Given the description of an element on the screen output the (x, y) to click on. 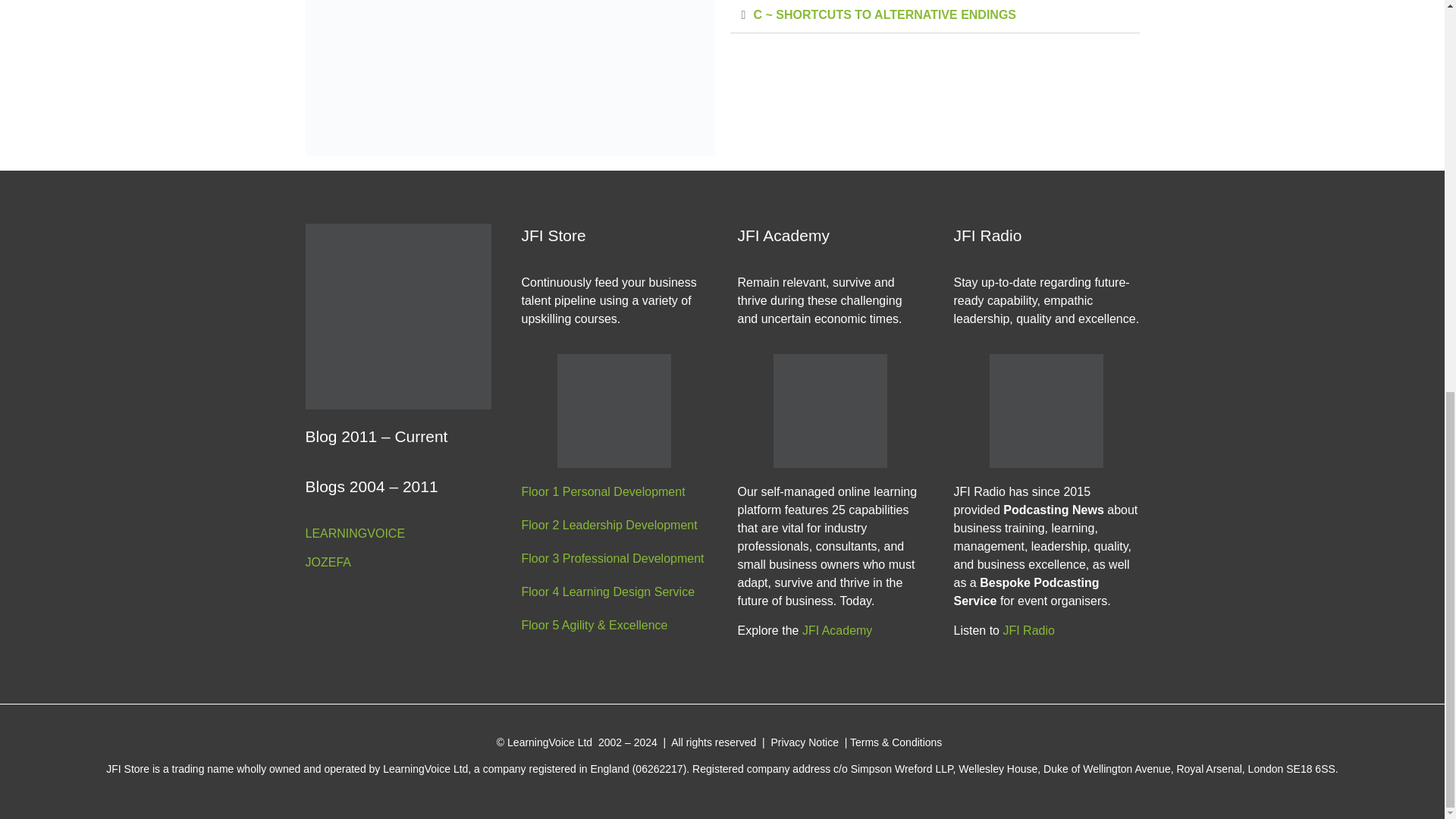
Floor 1 Personal Development (614, 492)
Floor 2 Leadership Development (614, 525)
Floor 3 Professional Development (614, 558)
JOZEFA (397, 562)
LEARNINGVOICE (397, 533)
